Given the description of an element on the screen output the (x, y) to click on. 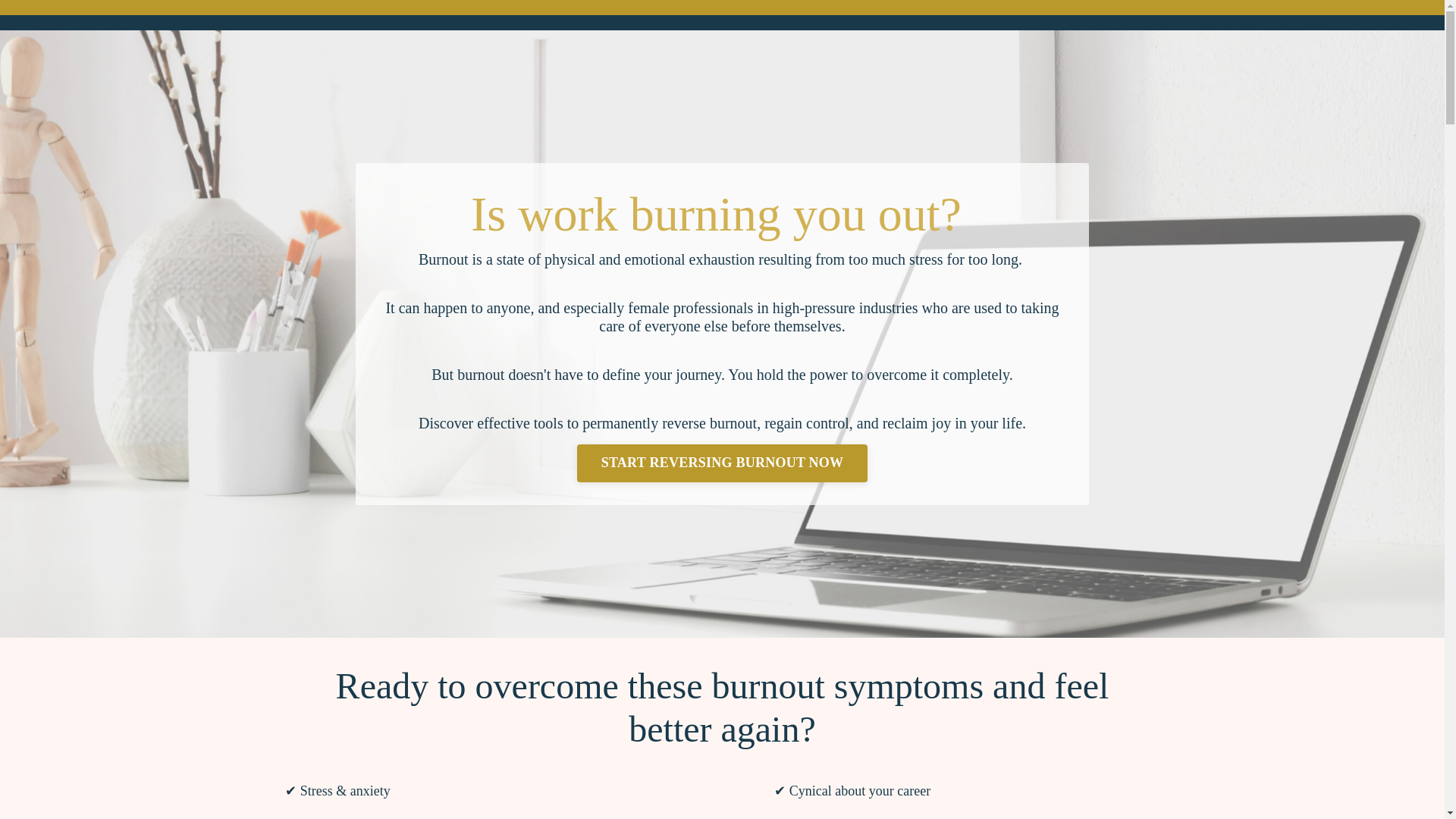
START REVERSING BURNOUT NOW (721, 463)
